Given the description of an element on the screen output the (x, y) to click on. 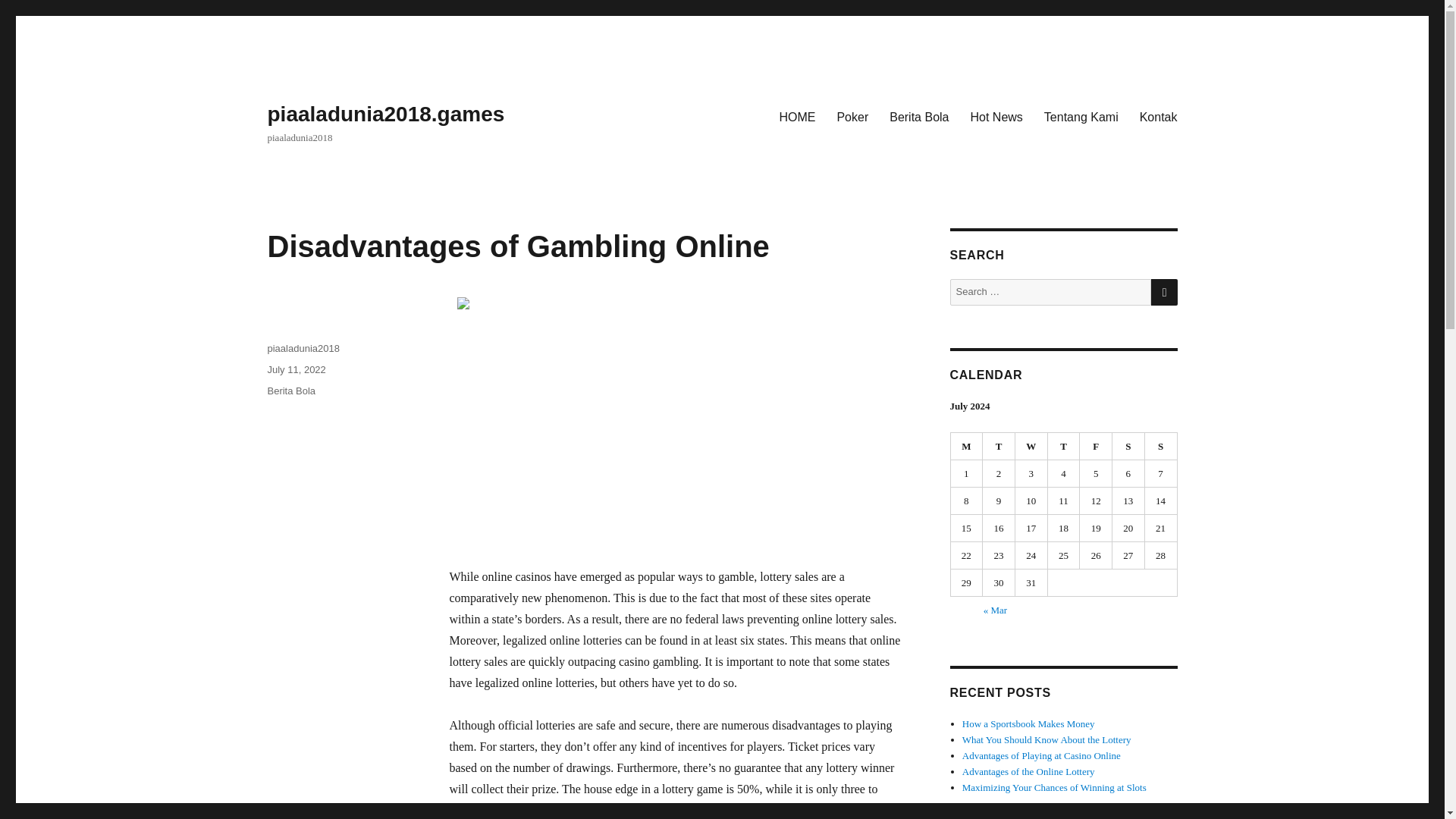
July 11, 2022 (295, 369)
Thursday (1064, 446)
How a Sportsbook Makes Money (1028, 723)
Berita Bola (290, 390)
piaaladunia2018.games (384, 114)
piaaladunia2018 (302, 348)
SEARCH (1164, 292)
Tentang Kami (1081, 116)
Poker (852, 116)
Monday (967, 446)
Maximizing Your Chances of Winning at Slots (1054, 787)
Friday (1096, 446)
Berita Bola (919, 116)
Hot News (995, 116)
Tuesday (998, 446)
